Given the description of an element on the screen output the (x, y) to click on. 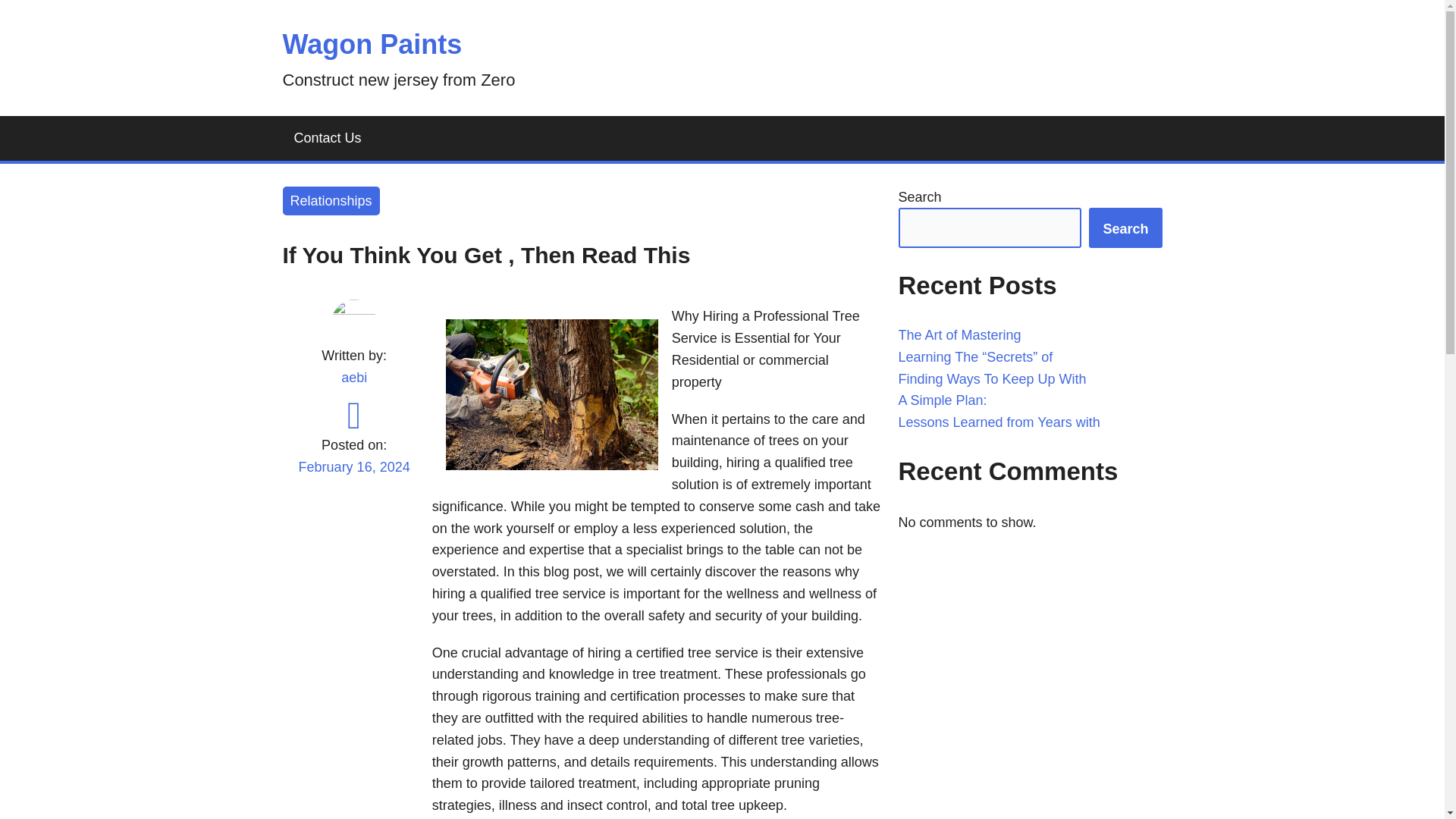
Search (1125, 228)
aebi (353, 377)
Finding Ways To Keep Up With (992, 378)
The Art of Mastering (959, 335)
Lessons Learned from Years with (998, 421)
Relationships (330, 201)
A Simple Plan: (942, 400)
Wagon Paints (371, 43)
February 16, 2024 (353, 476)
Contact Us (327, 138)
